Given the description of an element on the screen output the (x, y) to click on. 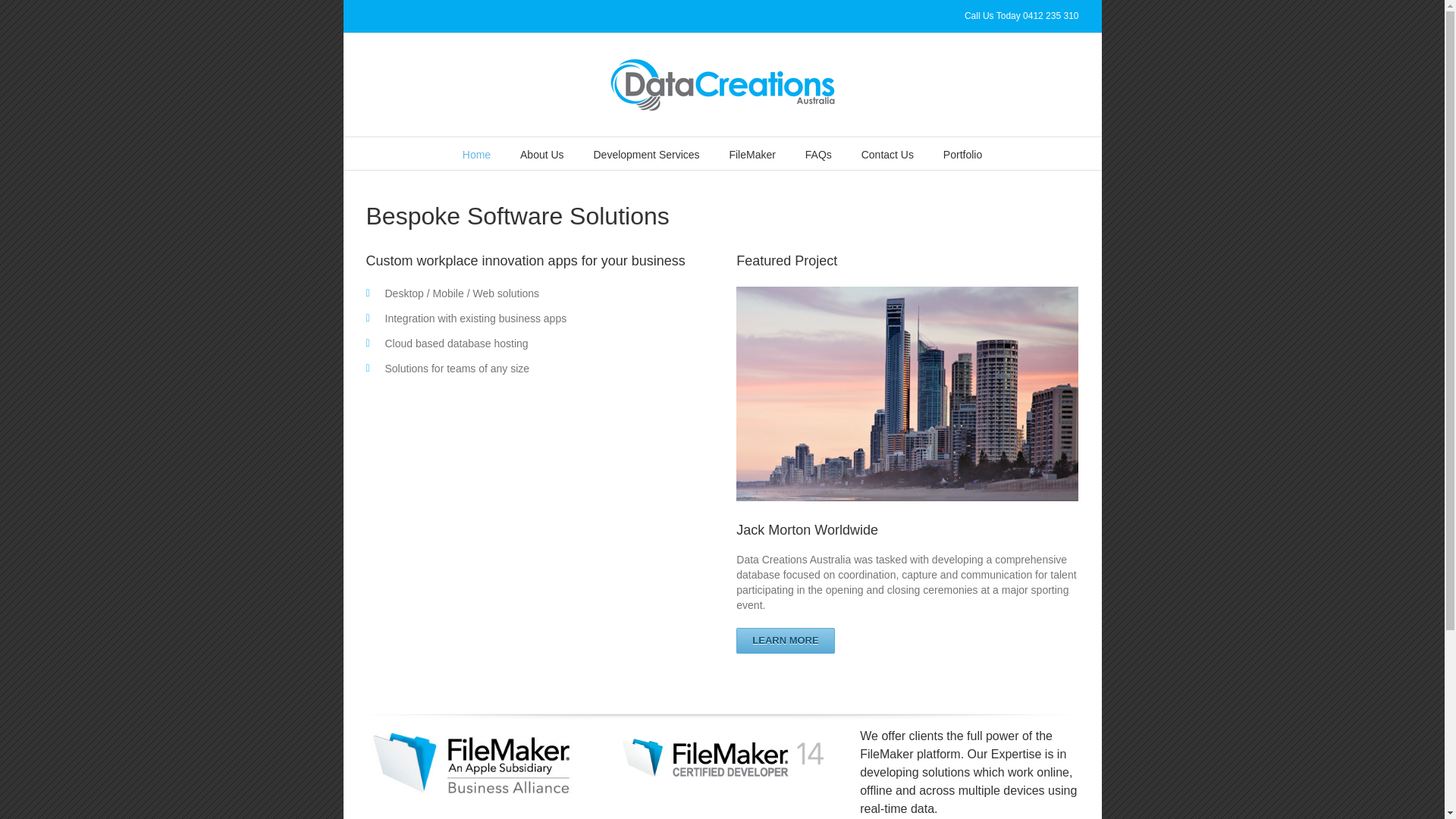
Contact Us Element type: text (887, 153)
Jack Morton Worldwide Element type: text (807, 529)
LEARN MORE Element type: text (785, 640)
Portfolio Element type: text (962, 153)
About Us Element type: text (542, 153)
Development Services Element type: text (646, 153)
Home Element type: text (476, 153)
FAQs Element type: text (818, 153)
FileMaker Element type: text (751, 153)
